Given the description of an element on the screen output the (x, y) to click on. 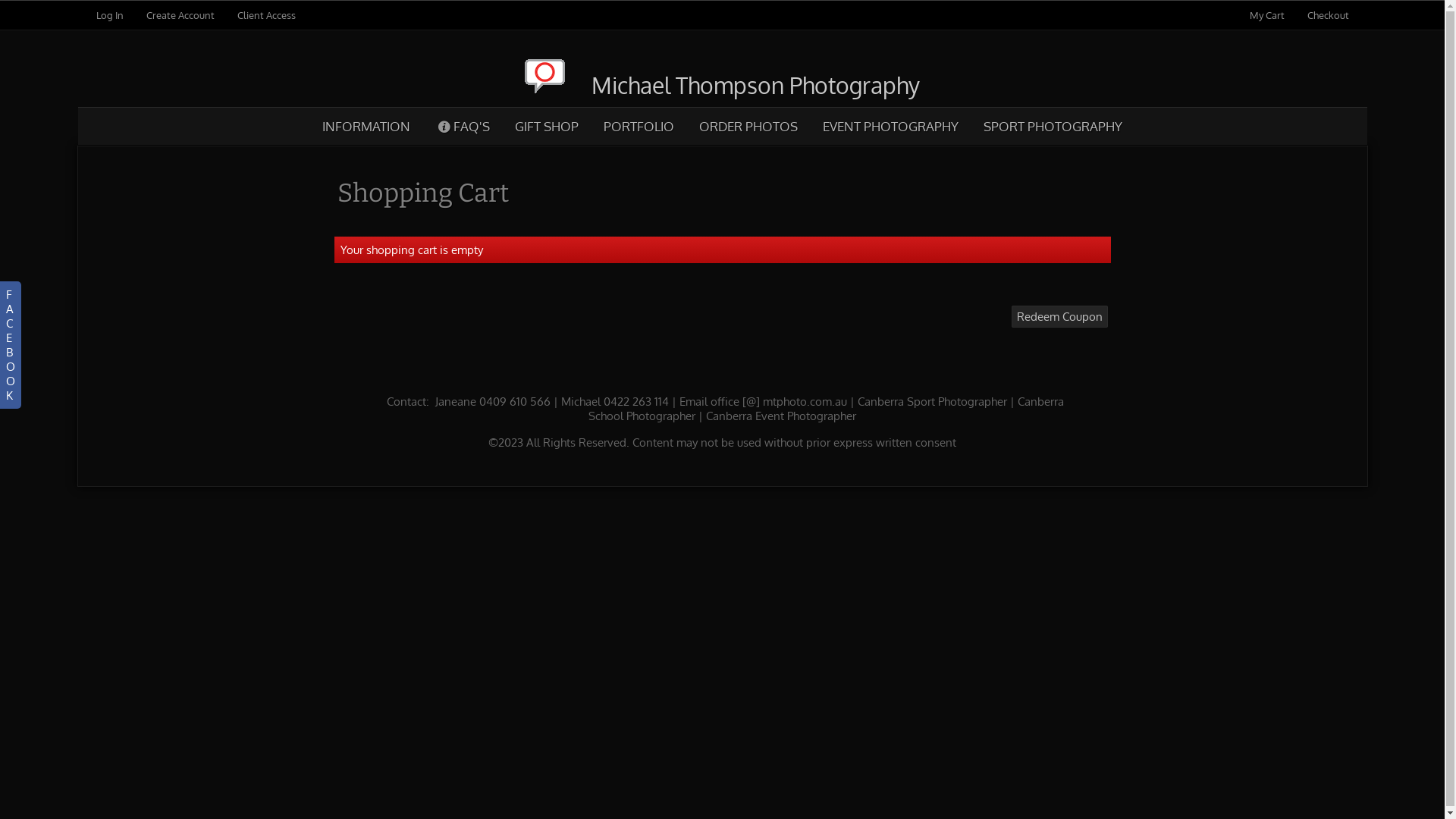
Checkout Element type: text (1328, 15)
Client Access Element type: text (265, 15)
FAQ'S Element type: text (462, 125)
PORTFOLIO Element type: text (638, 125)
Log In Element type: text (108, 15)
INFORMATION Element type: text (366, 125)
SPORT PHOTOGRAPHY Element type: text (1052, 125)
GIFT SHOP Element type: text (546, 125)
Create Account Element type: text (179, 15)
ORDER PHOTOS Element type: text (747, 125)
Redeem Coupon Element type: text (1059, 316)
EVENT PHOTOGRAPHY Element type: text (889, 125)
    Michael Thompson Photography Element type: text (721, 84)
My Cart Element type: text (1267, 15)
